Given the description of an element on the screen output the (x, y) to click on. 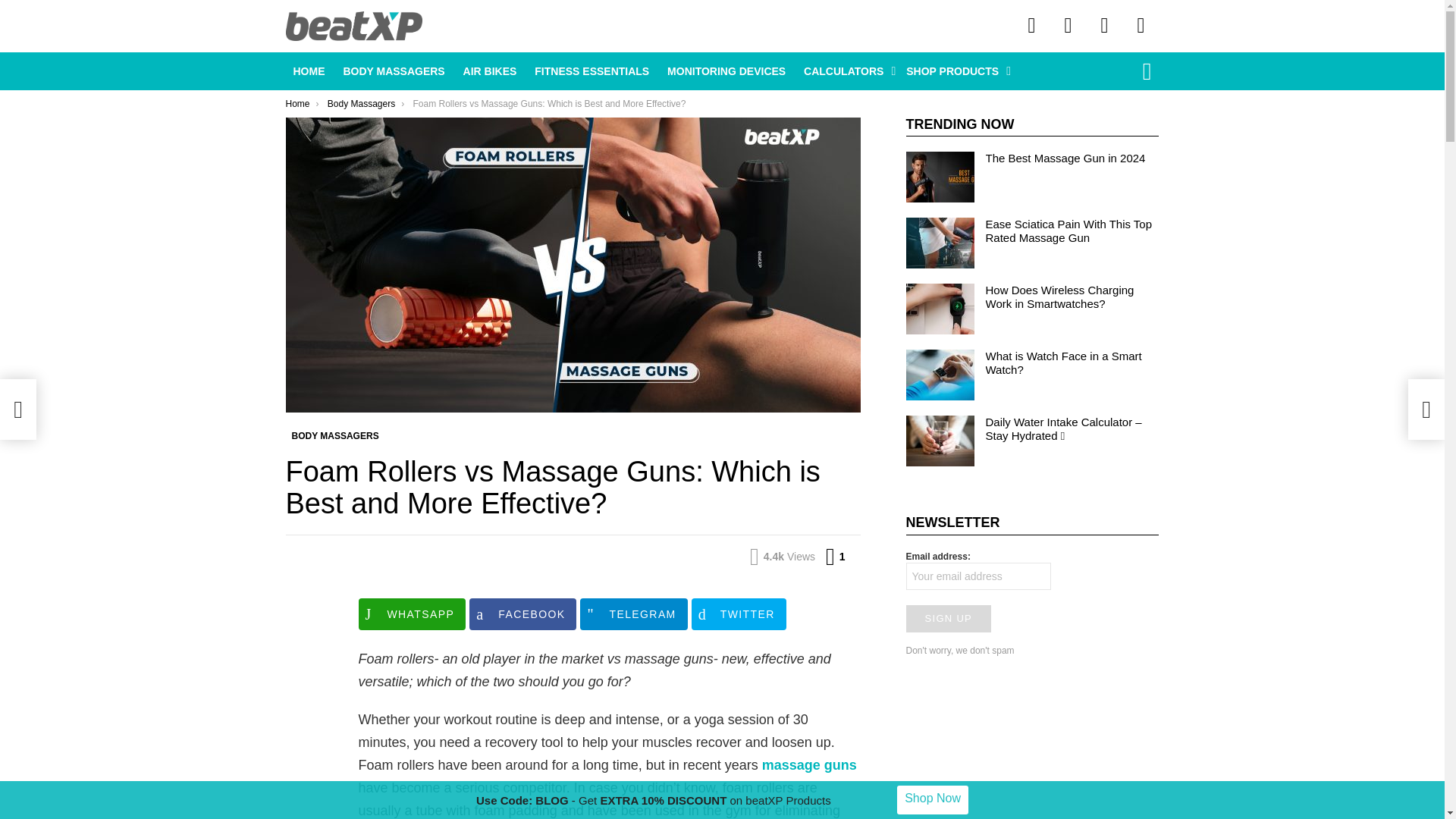
MONITORING DEVICES (726, 70)
Share on WhatsApp (411, 613)
BODY MASSAGERS (392, 70)
TWITTER (738, 613)
FACEBOOK (522, 613)
WHATSAPP (411, 613)
SHOP PRODUCTS (954, 70)
TELEGRAM (633, 613)
Facebook (1067, 25)
CALCULATORS (845, 70)
Share on Facebook (522, 613)
BODY MASSAGERS (334, 435)
Instagram (1031, 25)
Share on Telegram (633, 613)
Sign up (948, 618)
